Given the description of an element on the screen output the (x, y) to click on. 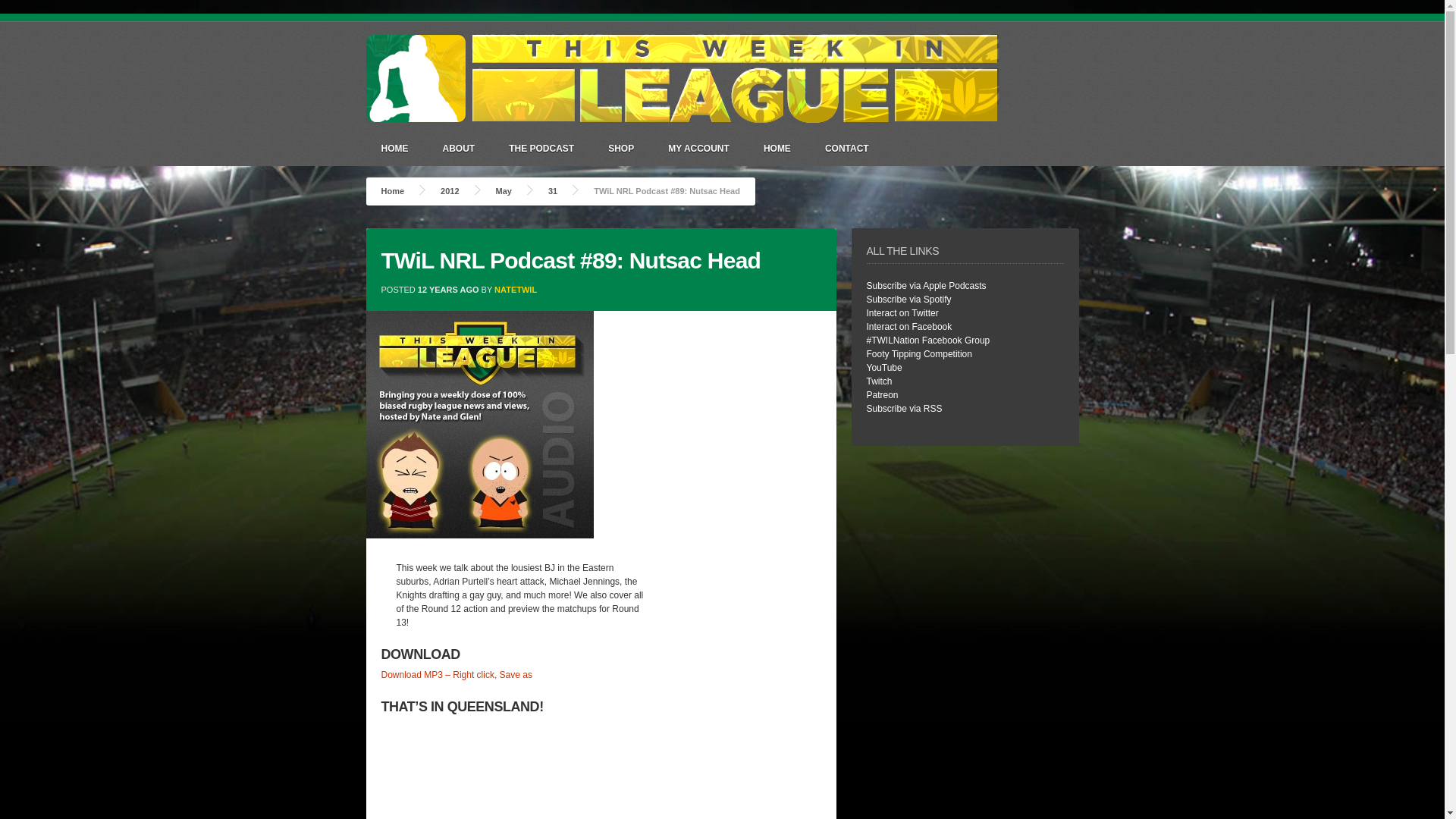
THE PODCAST (541, 147)
YouTube (883, 367)
May 2012 (504, 191)
This Week in League NRL Podcast (392, 191)
Interact on Facebook (909, 326)
Twitch (878, 380)
Footy Tipping Competition (918, 353)
HOME (394, 147)
ABOUT (459, 147)
Interact on Twitter (901, 312)
